Given the description of an element on the screen output the (x, y) to click on. 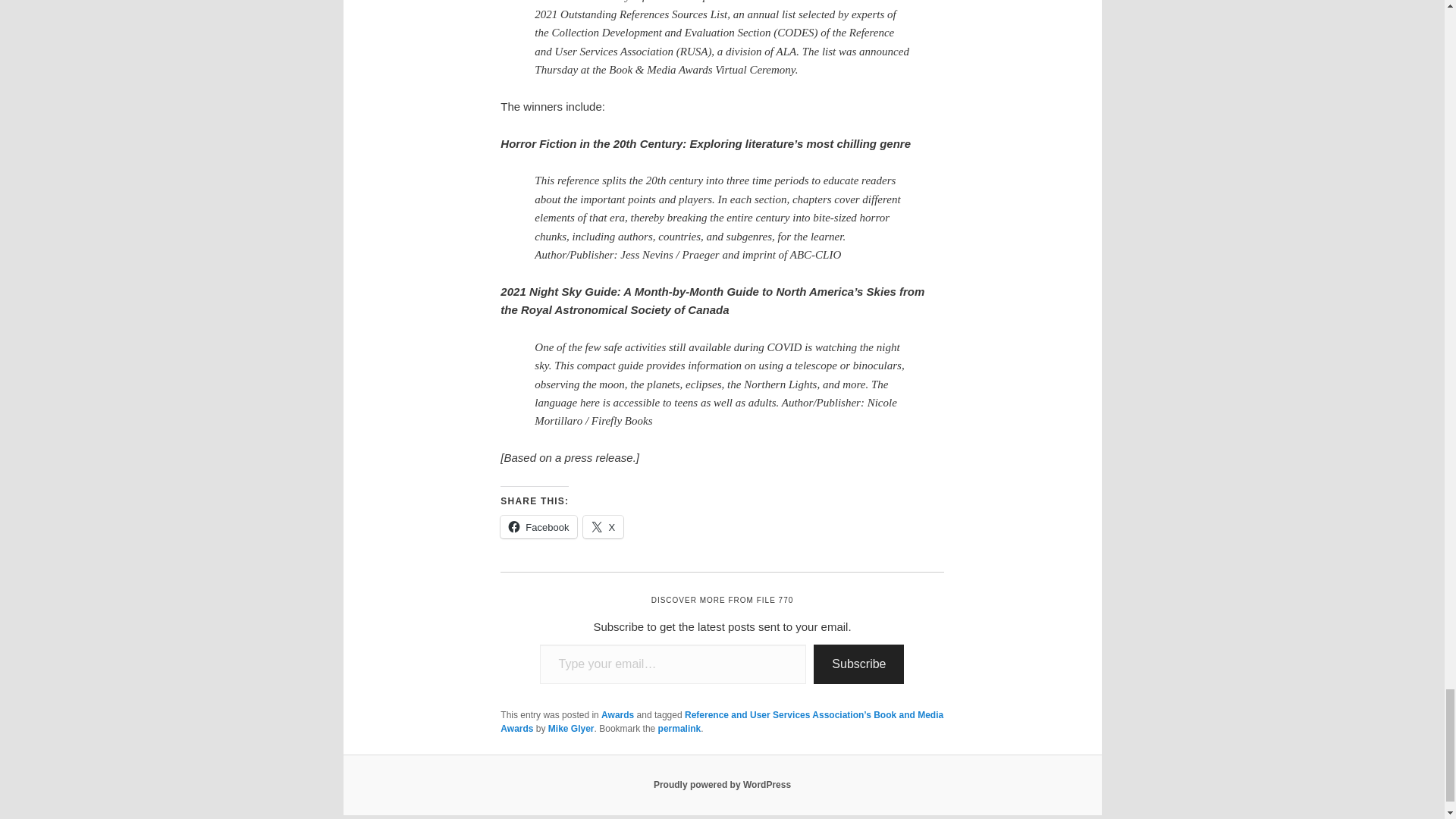
Please fill in this field. (673, 664)
permalink (679, 728)
Awards (617, 715)
Click to share on Facebook (538, 526)
Subscribe (858, 664)
Semantic Personal Publishing Platform (721, 784)
Facebook (538, 526)
X (603, 526)
Click to share on X (603, 526)
Mike Glyer (571, 728)
Proudly powered by WordPress (721, 784)
